Given the description of an element on the screen output the (x, y) to click on. 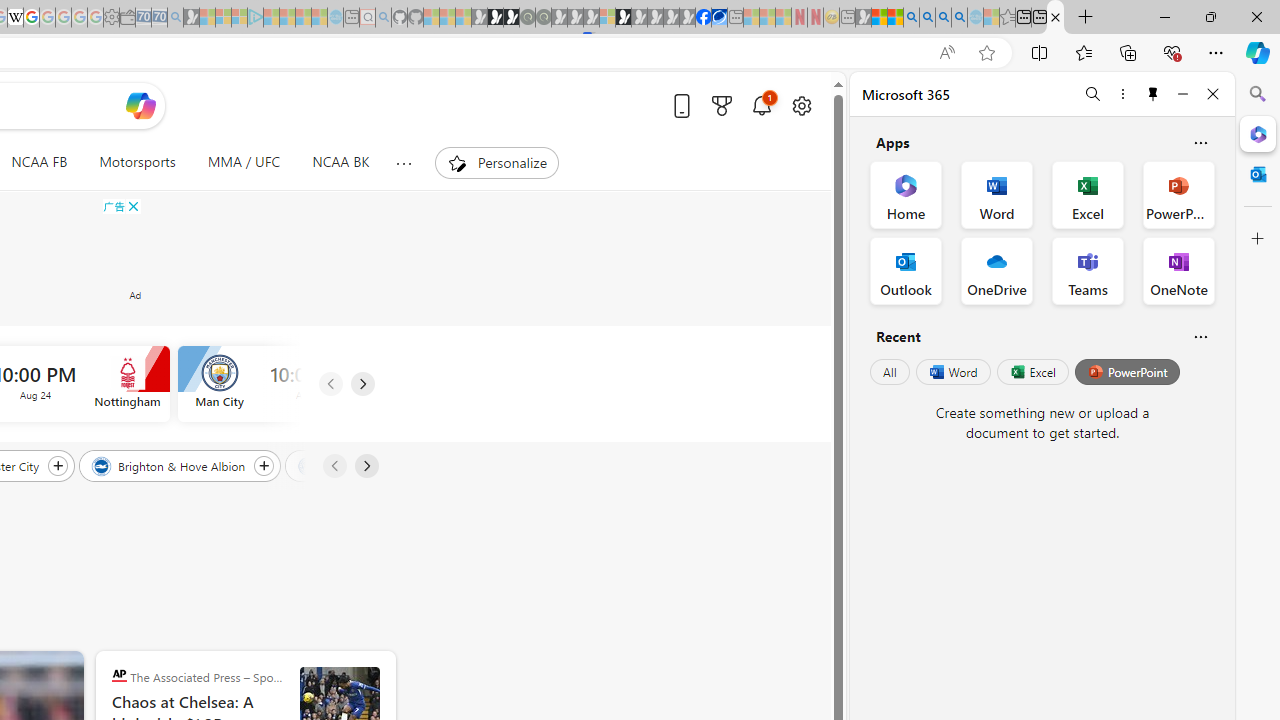
NCAA BK (340, 162)
PowerPoint Office App (1178, 194)
Motorsports (137, 162)
Bing AI - Search (911, 17)
Future Focus Report 2024 - Sleeping (543, 17)
